Given the description of an element on the screen output the (x, y) to click on. 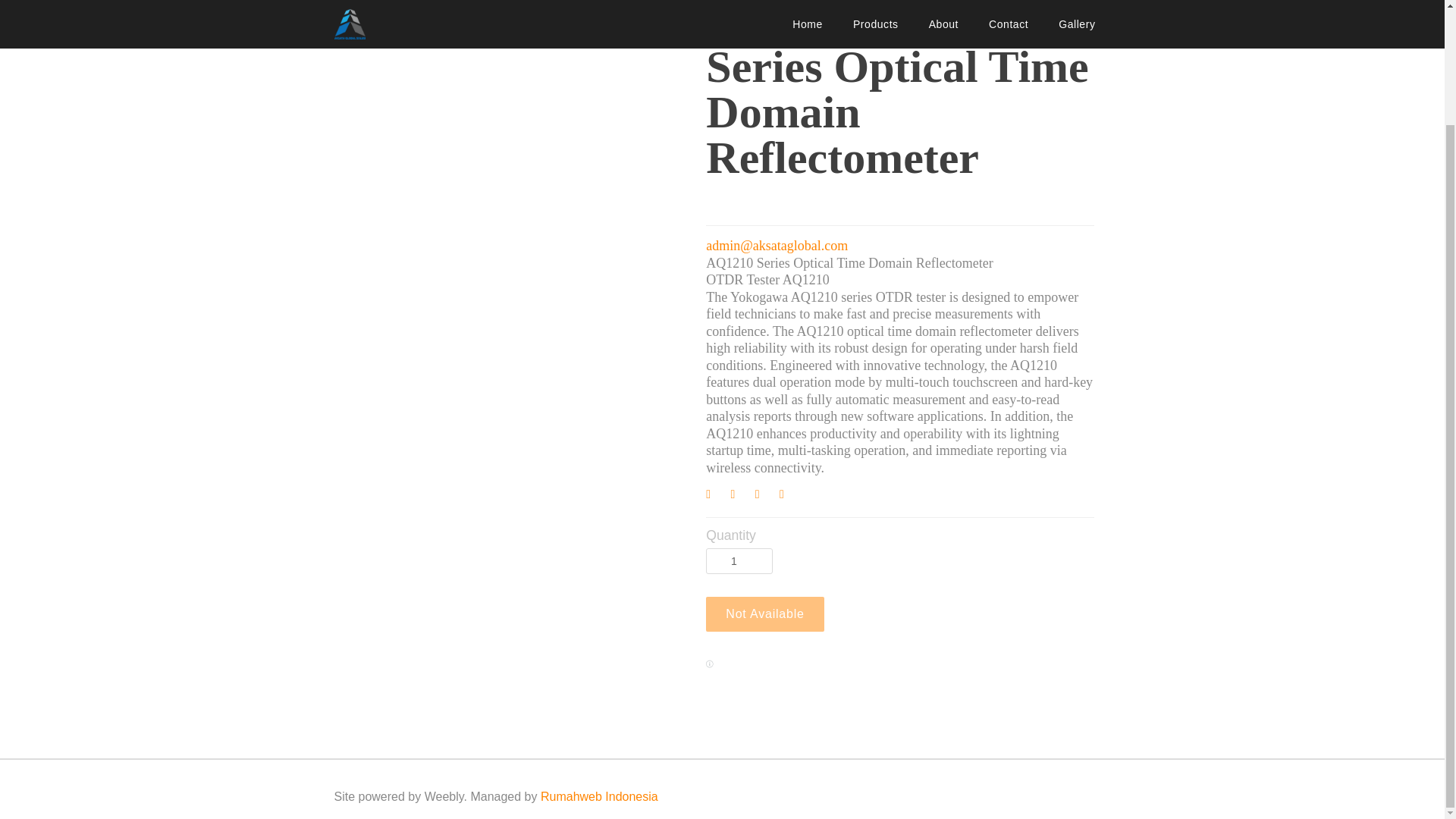
Share on Pinterest (764, 496)
Share on Twitter (739, 496)
Share on Facebook (714, 496)
Pinterest (764, 496)
Facebook (714, 496)
1 (739, 560)
Twitter (739, 496)
Not Available (765, 614)
Rumahweb Indonesia (599, 796)
